Given the description of an element on the screen output the (x, y) to click on. 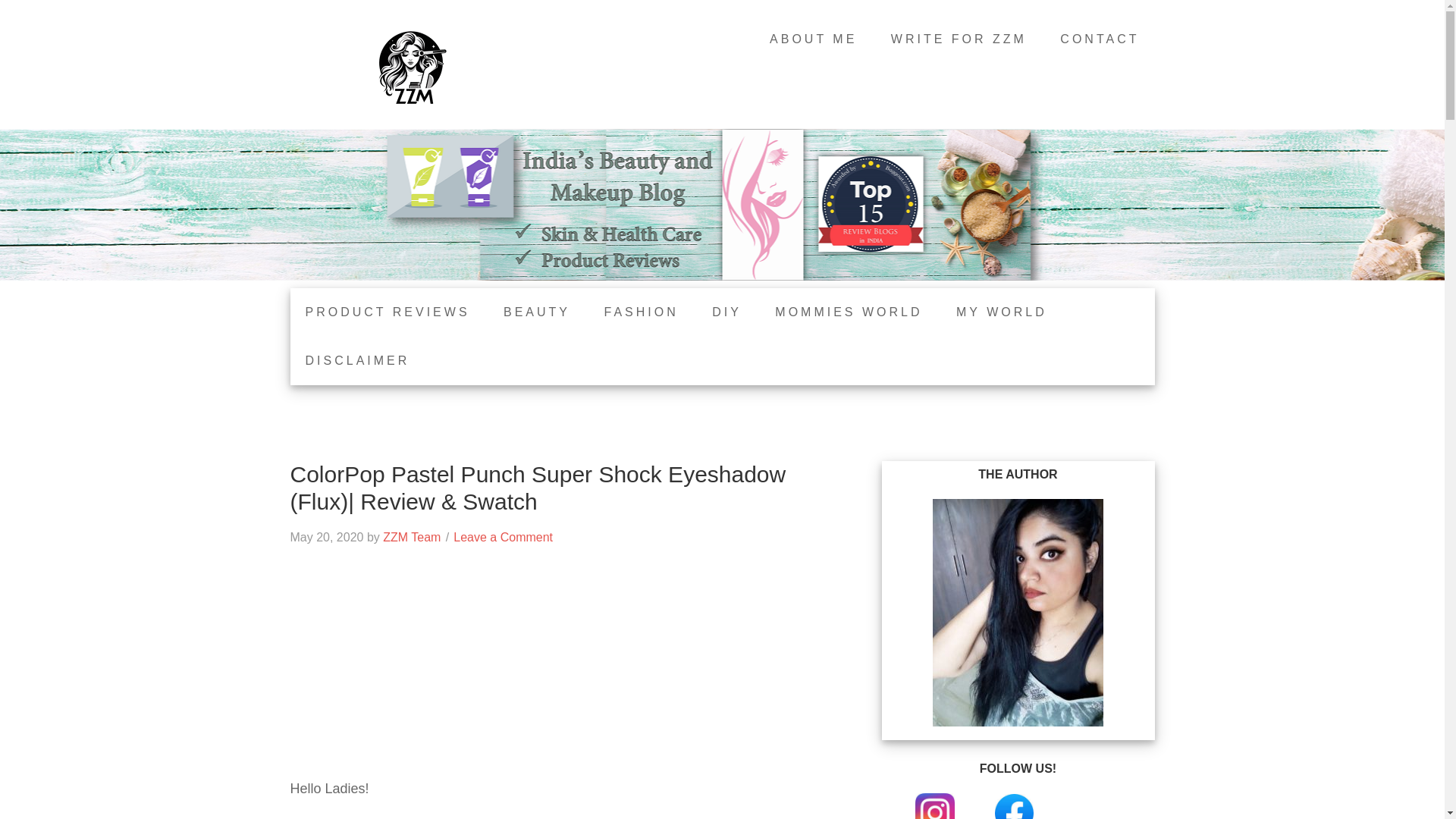
DISCLAIMER (357, 360)
MOMMIES WORLD (848, 312)
ZZM Team (411, 536)
MY WORLD (1001, 312)
CONTACT (1099, 39)
DIY (727, 312)
Leave a Comment (502, 536)
Zig Zac Mania (410, 67)
ABOUT ME (813, 39)
BEAUTY (536, 312)
